Given the description of an element on the screen output the (x, y) to click on. 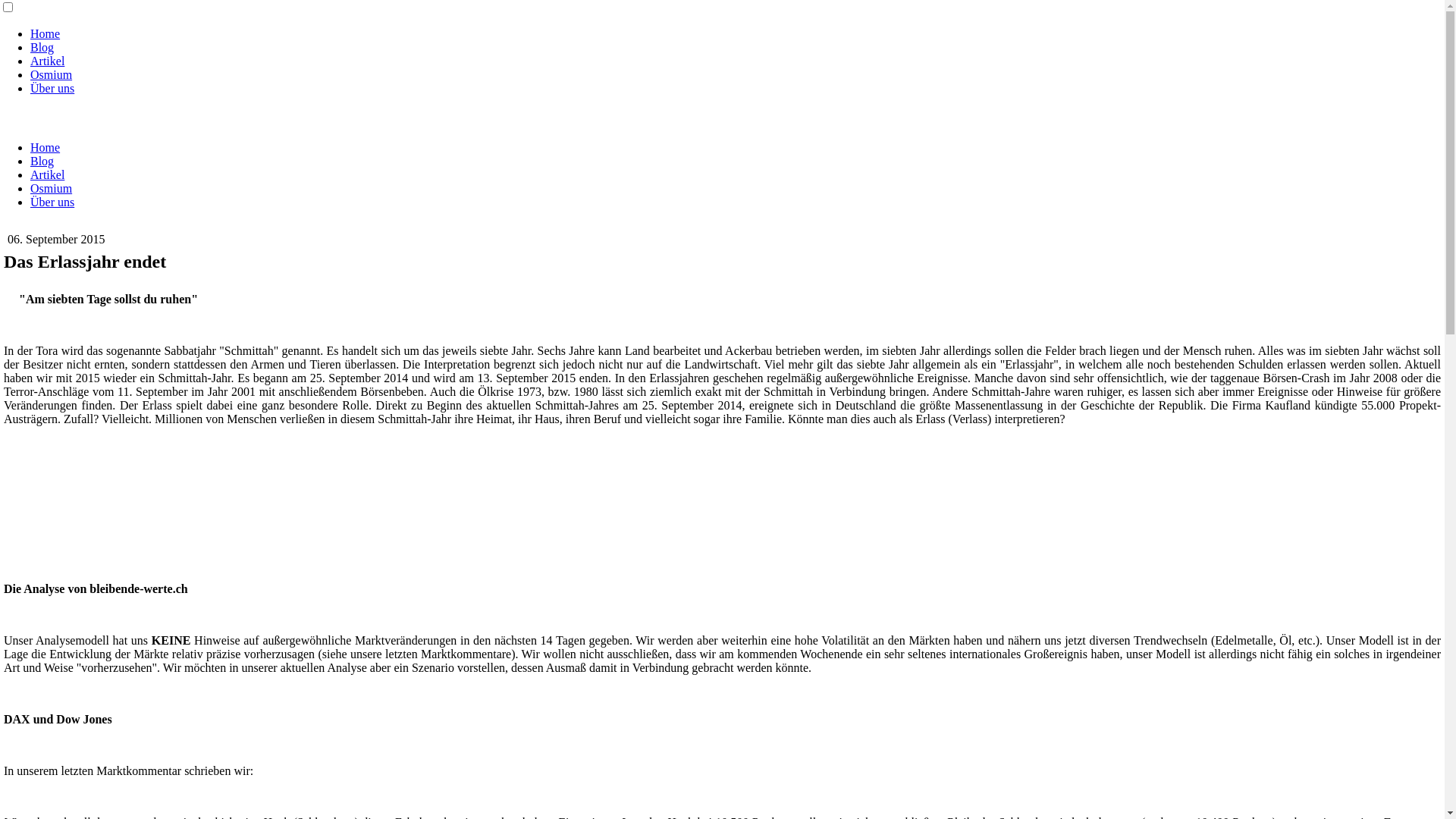
Blog Element type: text (41, 46)
Osmium Element type: text (51, 74)
Artikel Element type: text (47, 174)
Home Element type: text (44, 33)
Artikel Element type: text (47, 60)
Osmium Element type: text (51, 188)
Home Element type: text (44, 147)
Blog Element type: text (41, 160)
